Given the description of an element on the screen output the (x, y) to click on. 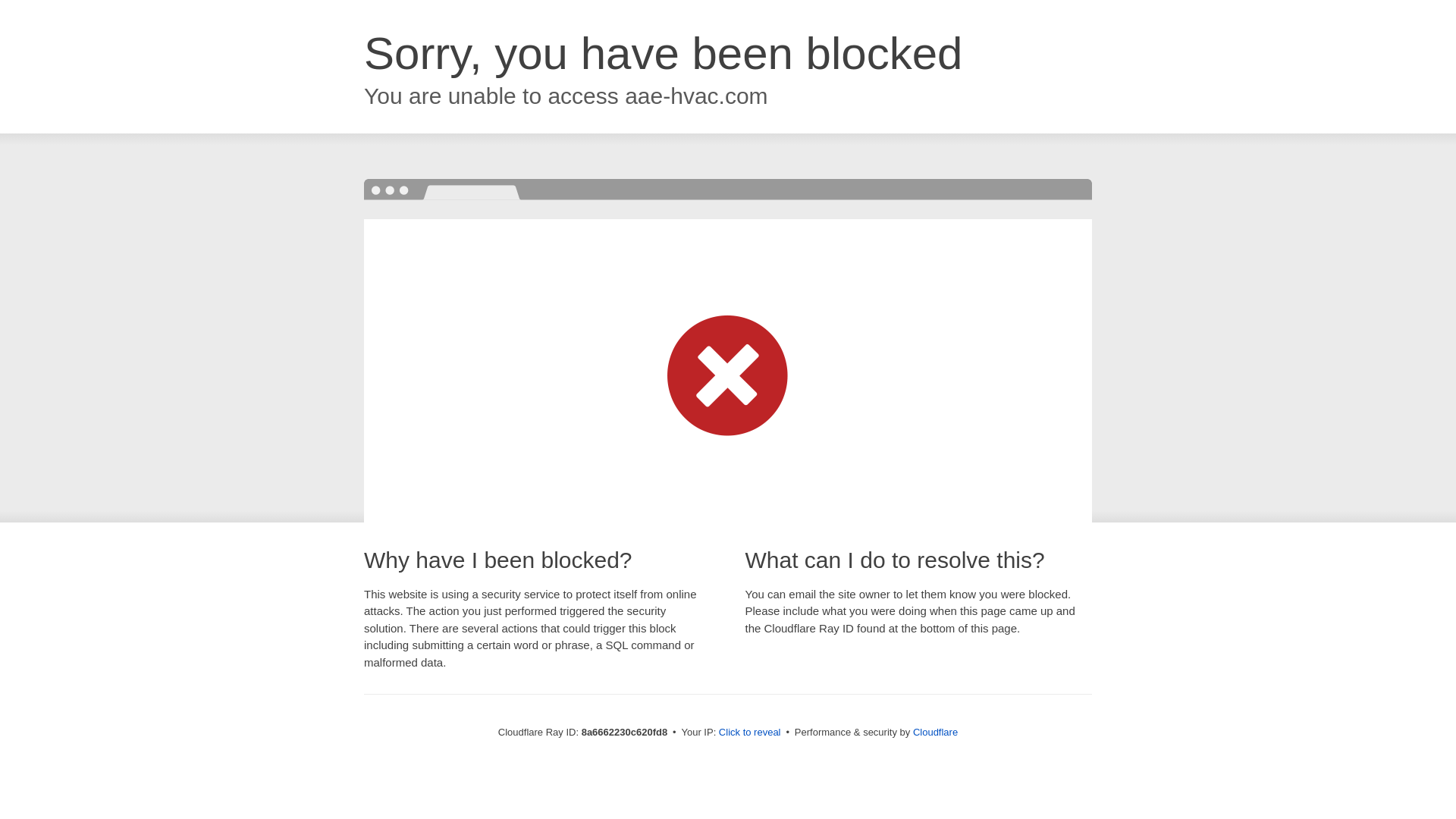
Click to reveal (749, 732)
Cloudflare (935, 731)
